Given the description of an element on the screen output the (x, y) to click on. 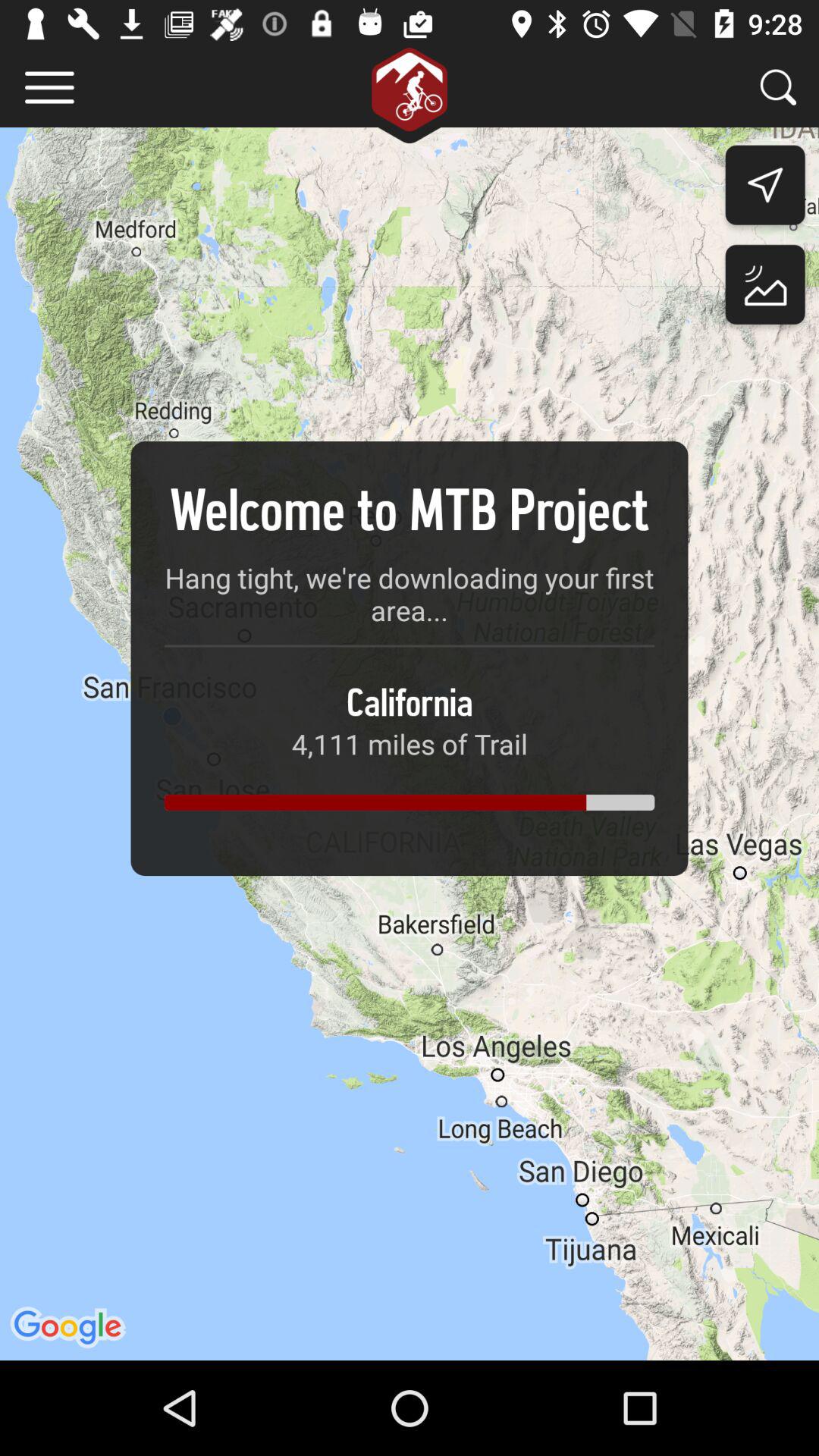
click for options (49, 87)
